Given the description of an element on the screen output the (x, y) to click on. 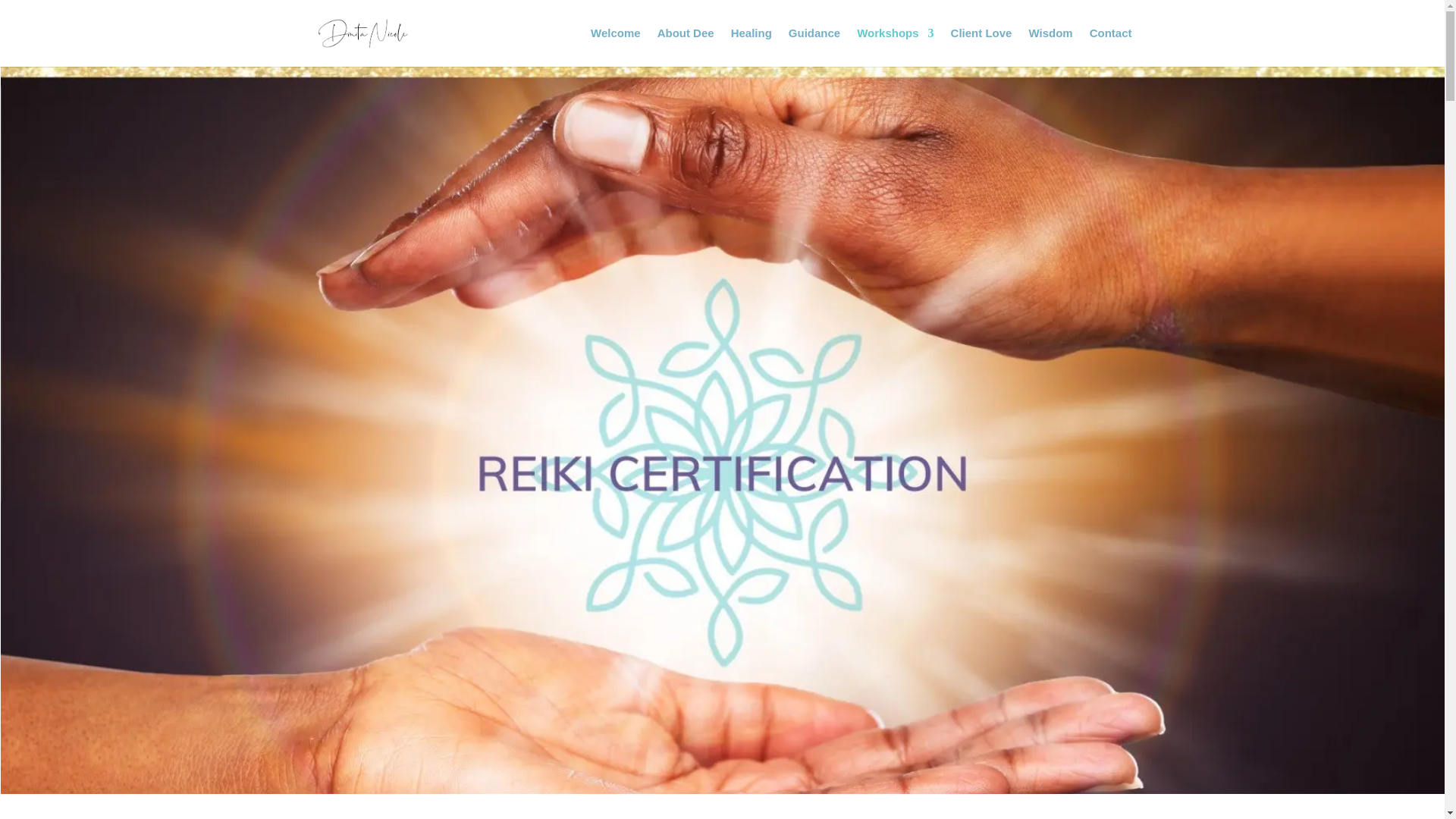
About Dee (686, 46)
Healing (750, 46)
Client Love (980, 46)
Wisdom (1049, 46)
Welcome (615, 46)
Workshops (895, 46)
Contact (1110, 46)
Guidance (814, 46)
